Given the description of an element on the screen output the (x, y) to click on. 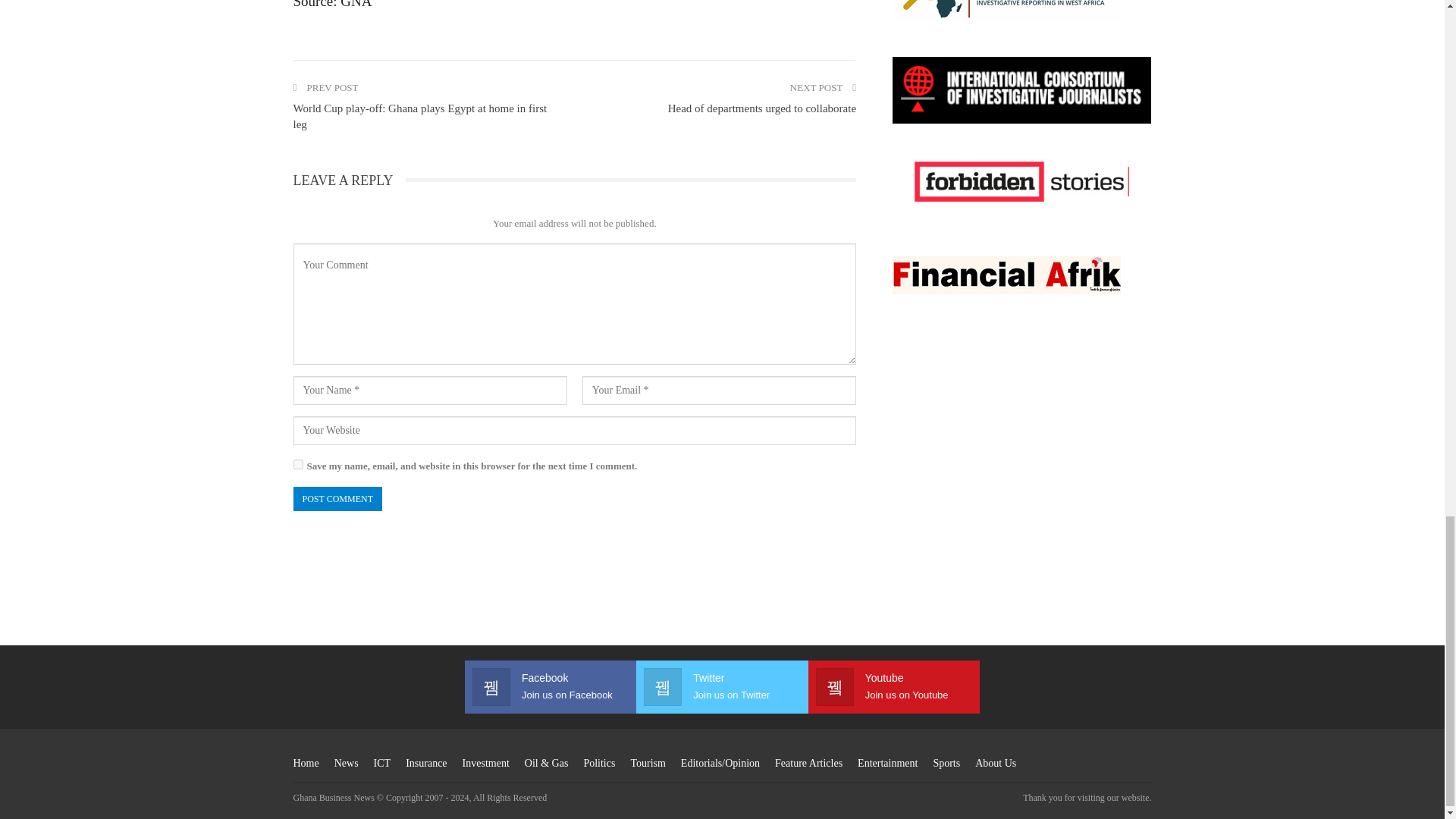
yes (297, 464)
Post Comment (336, 498)
Head of departments urged to collaborate (762, 108)
World Cup play-off: Ghana plays Egypt at home in first leg (419, 116)
Post Comment (336, 498)
